Given the description of an element on the screen output the (x, y) to click on. 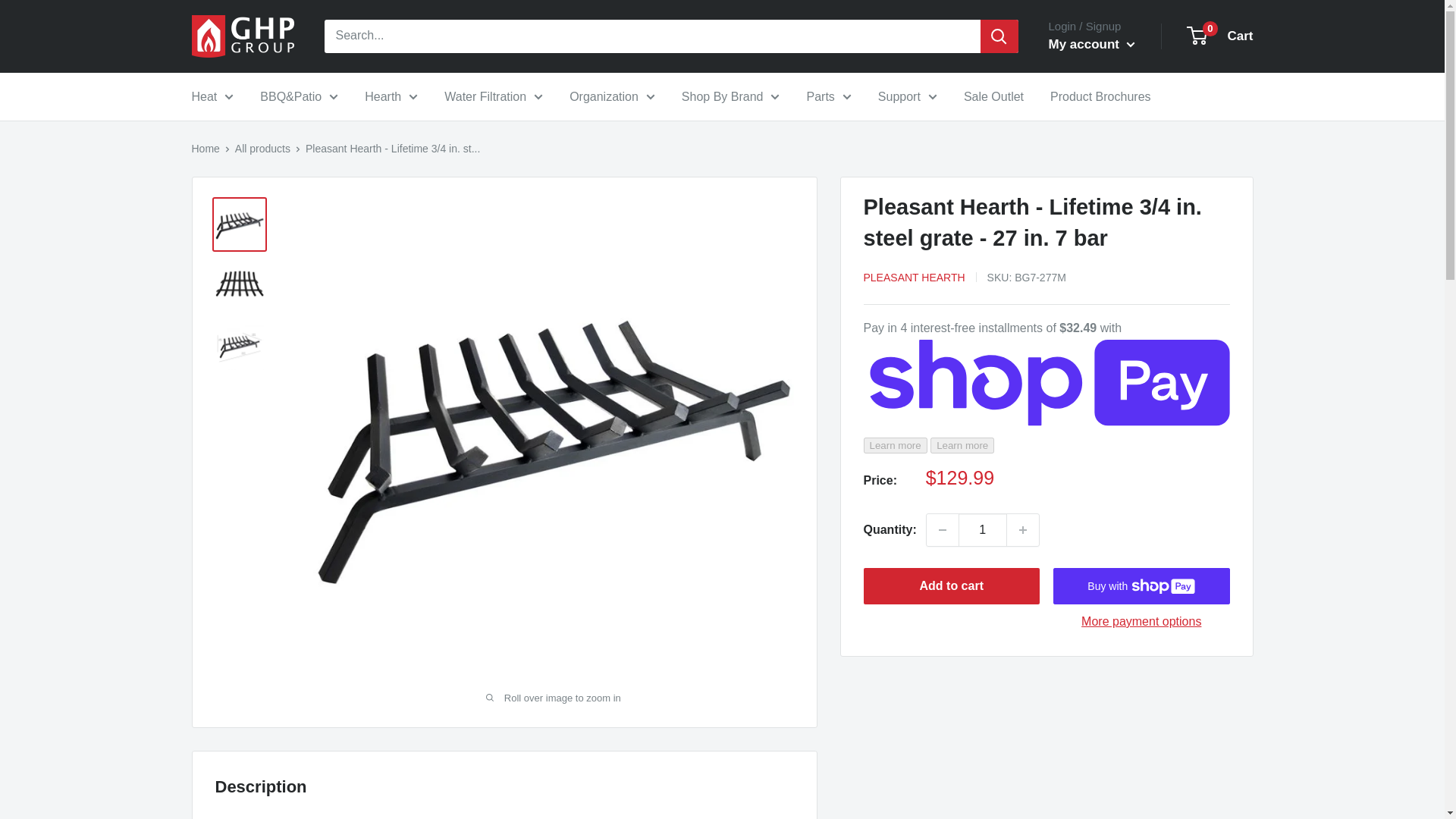
Increase quantity by 1 (1023, 530)
1 (982, 530)
Decrease quantity by 1 (942, 530)
